Given the description of an element on the screen output the (x, y) to click on. 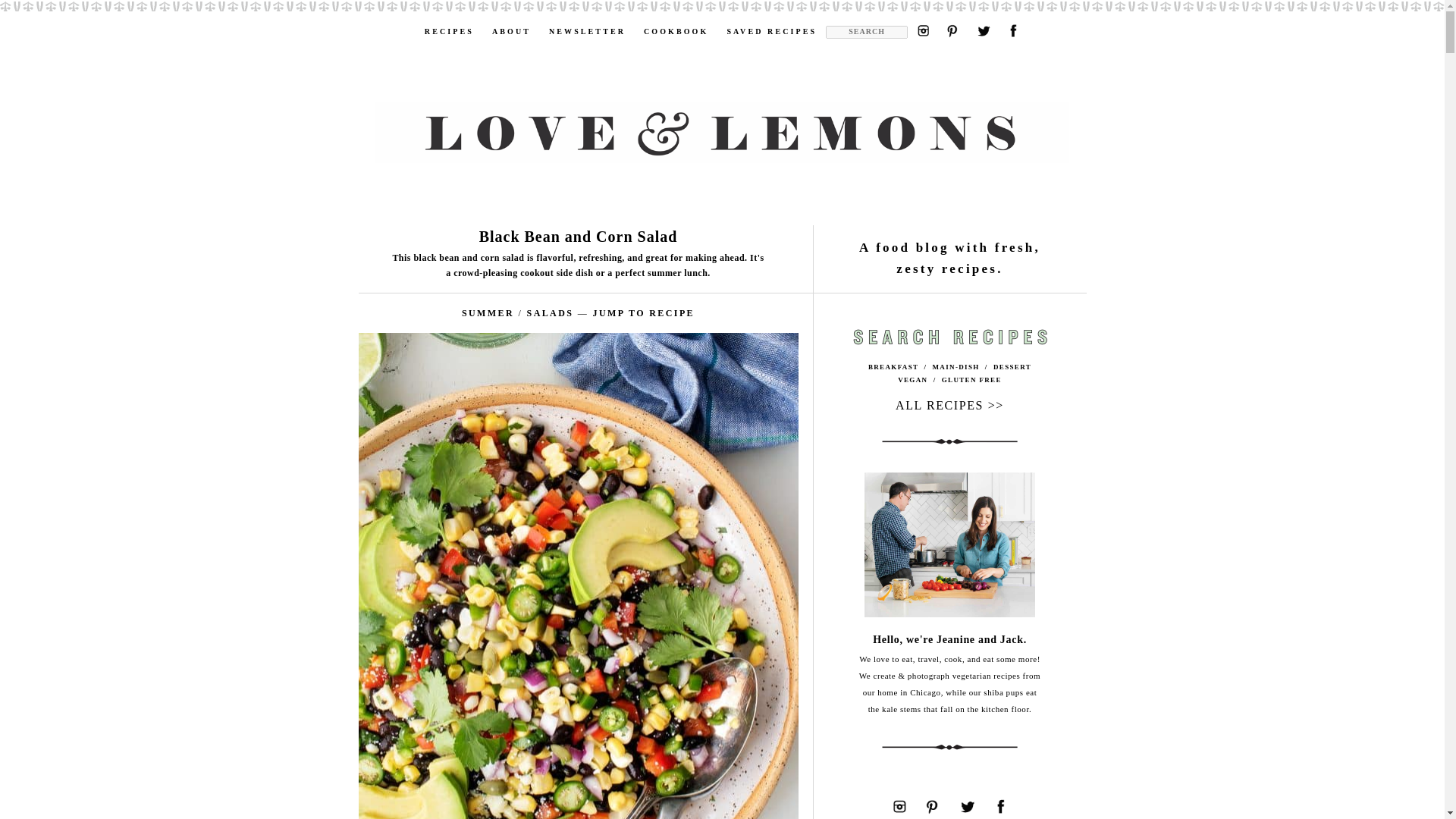
SUMMER (487, 312)
COOKBOOK (675, 27)
SALADS (550, 312)
JUMP TO RECIPE (643, 312)
SAVED RECIPES (771, 27)
RECIPES (448, 27)
Black Bean and Corn Salad (578, 236)
NEWSLETTER (587, 27)
ABOUT (511, 27)
